Given the description of an element on the screen output the (x, y) to click on. 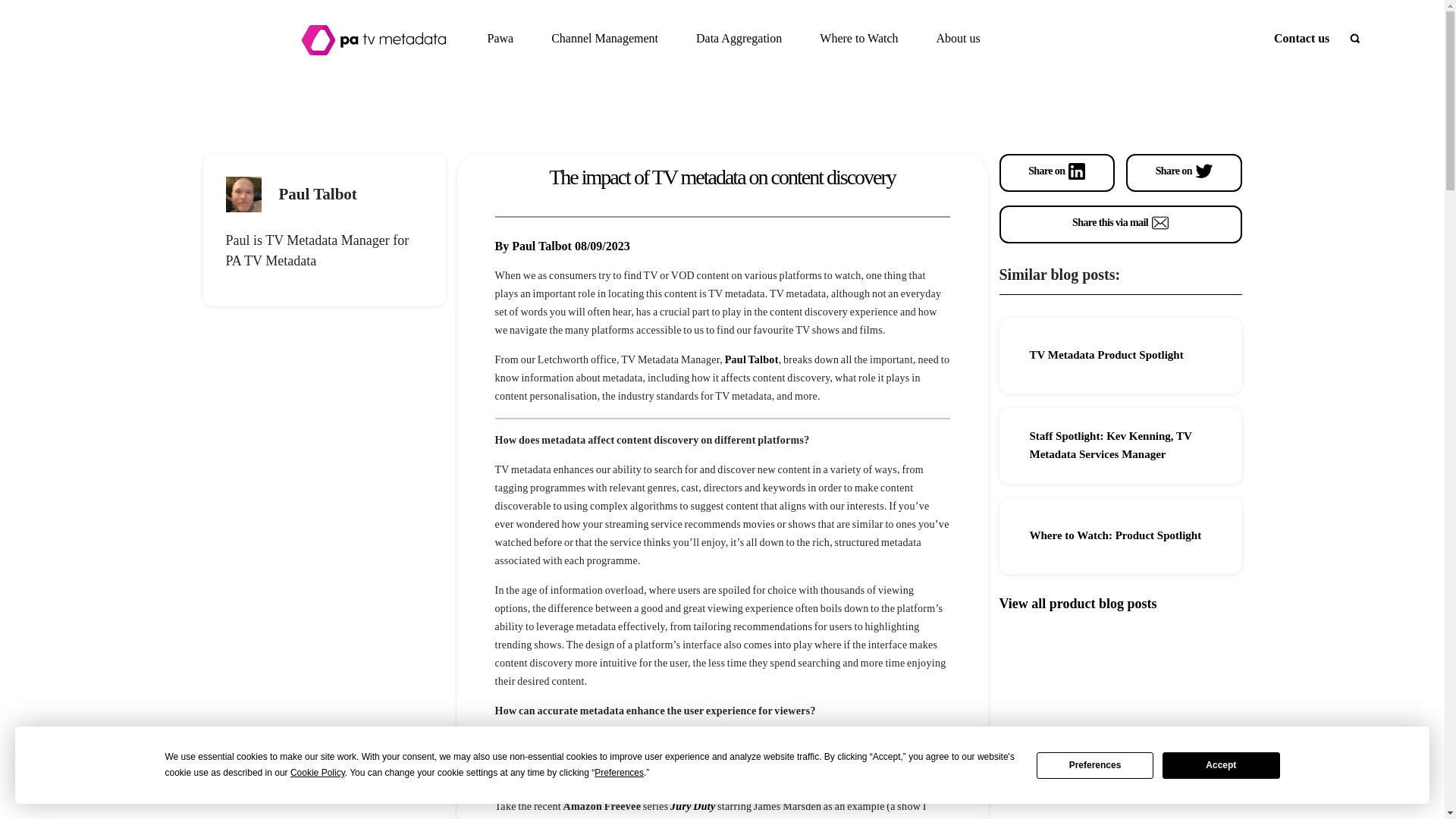
Jury Duty (693, 806)
Contact us (1301, 38)
Share this via mail (1119, 224)
Channel Management (604, 38)
The impact of TV metadata on content discovery (722, 177)
Preferences (1094, 765)
Share on (1056, 172)
Share on (1183, 172)
Where to Watch (858, 38)
Paul Talbot (751, 359)
Pawa (500, 38)
About us (957, 38)
Accept (1220, 765)
Data Aggregation (738, 38)
